Given the description of an element on the screen output the (x, y) to click on. 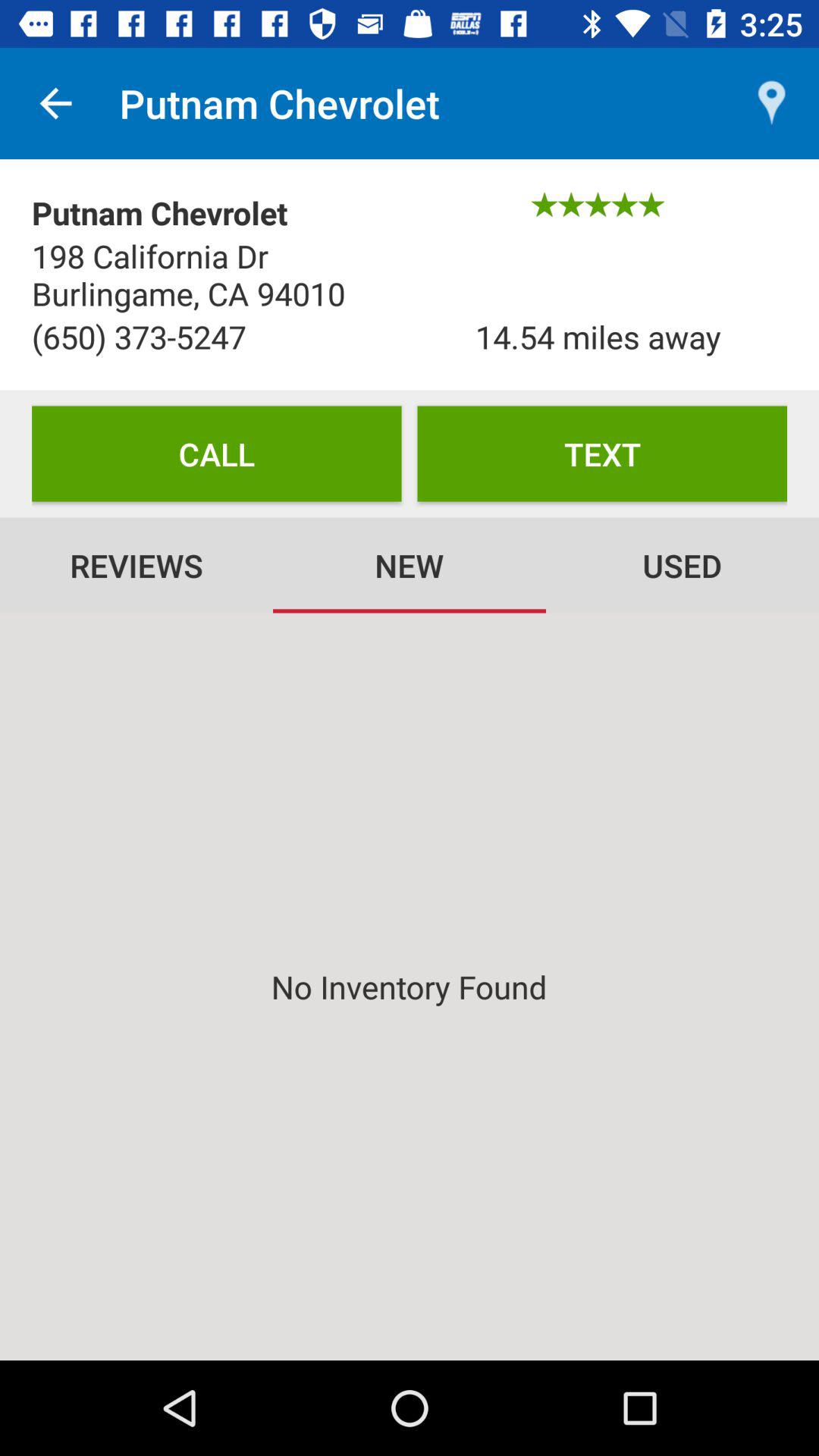
flip to the text (602, 453)
